Given the description of an element on the screen output the (x, y) to click on. 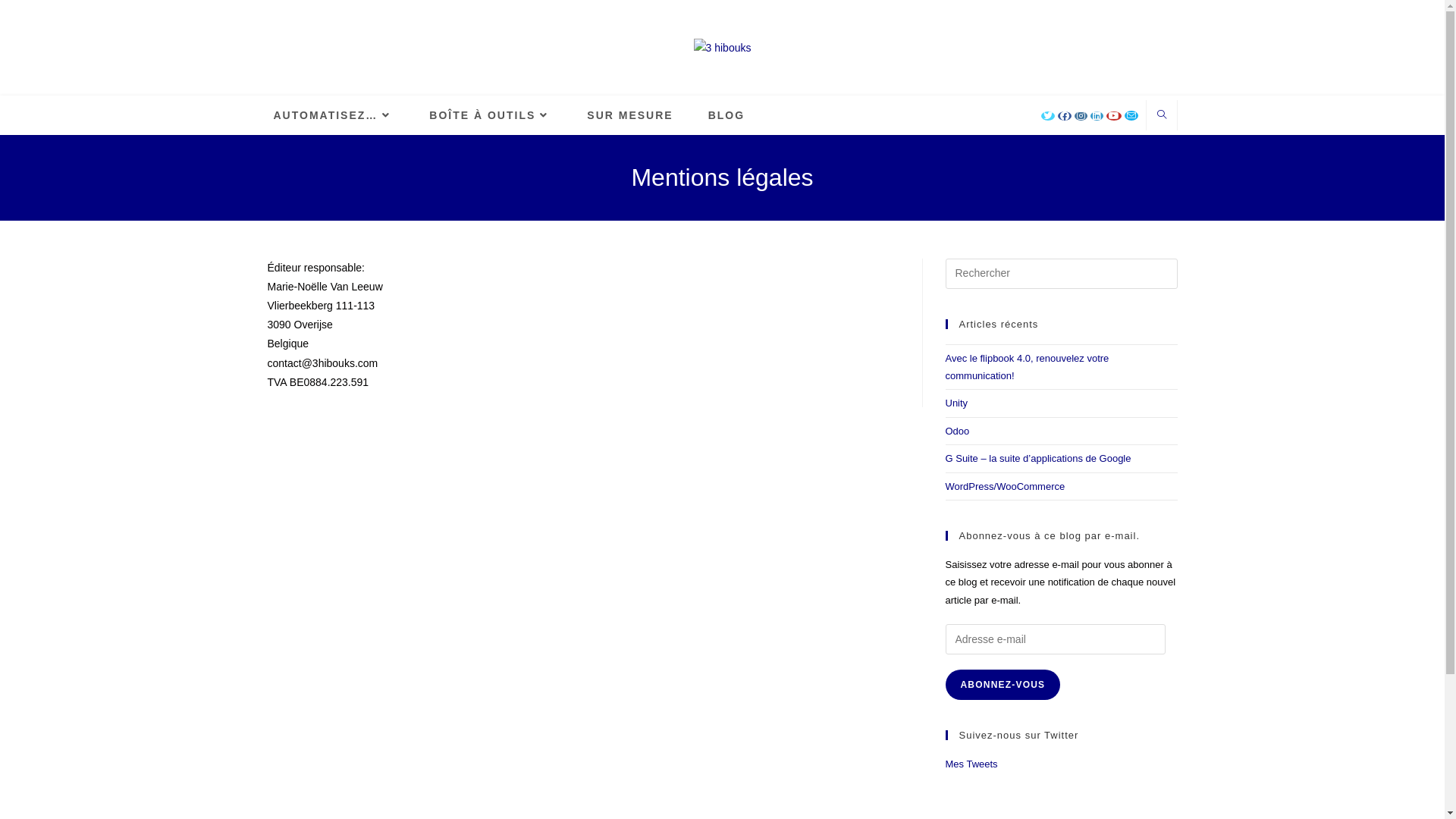
Mes Tweets Element type: text (970, 763)
SUR MESURE Element type: text (629, 115)
ABONNEZ-VOUS Element type: text (1002, 684)
Avec le flipbook 4.0, renouvelez votre communication! Element type: text (1026, 366)
WordPress/WooCommerce Element type: text (1004, 486)
Odoo Element type: text (956, 430)
Unity Element type: text (955, 402)
BLOG Element type: text (726, 115)
